Given the description of an element on the screen output the (x, y) to click on. 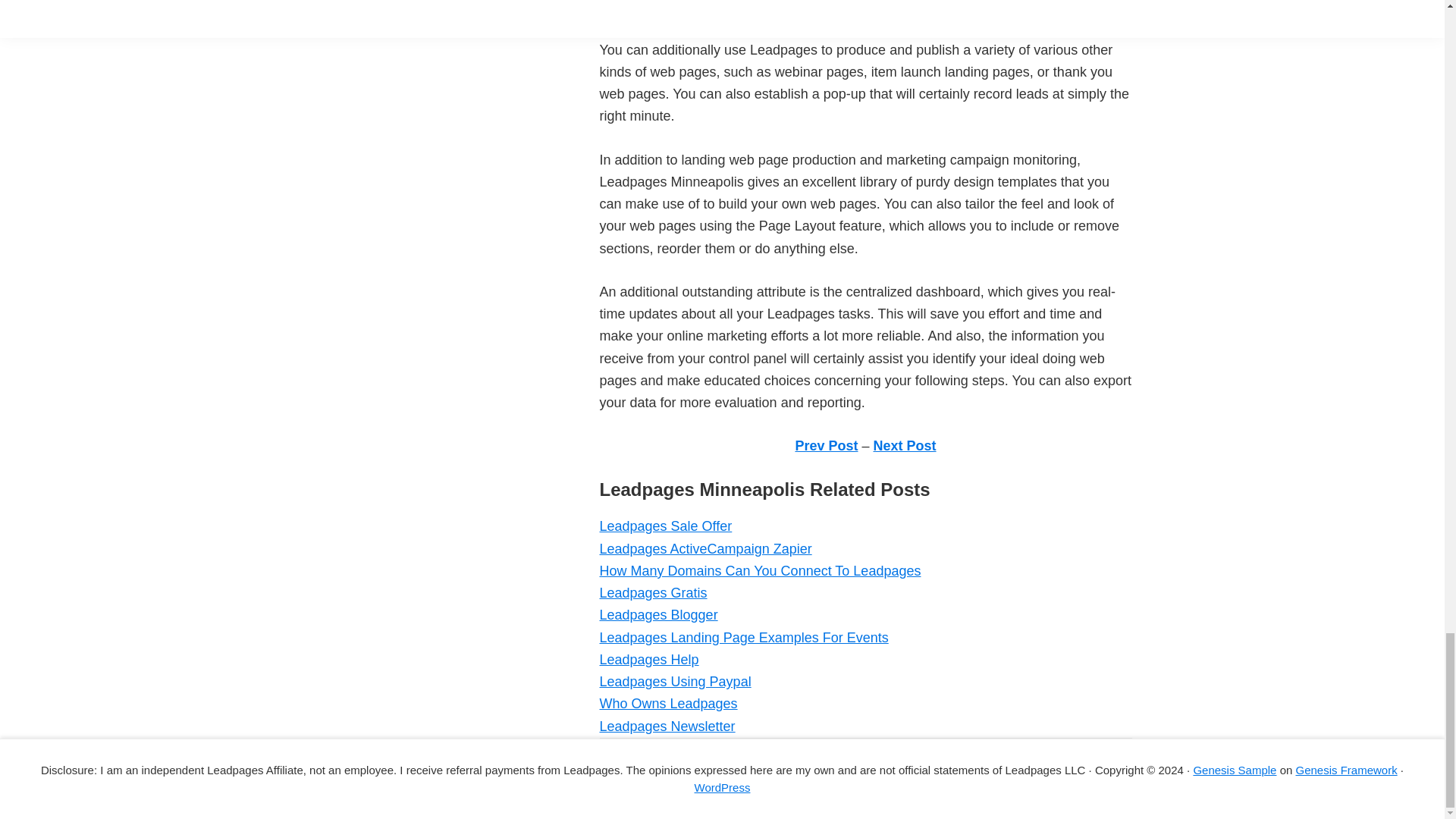
Leadpages Landing Page Examples For Events (743, 637)
Prev Post (825, 445)
Leadpages Sale Offer (665, 525)
Leadpages Help (648, 659)
Who Owns Leadpages (667, 703)
Leadpages Newsletter (666, 726)
Leadpages ActiveCampaign Zapier (704, 548)
Leadpages Gratis (652, 592)
Leadpages Using Paypal (674, 681)
Leadpages Using Paypal (674, 681)
